Given the description of an element on the screen output the (x, y) to click on. 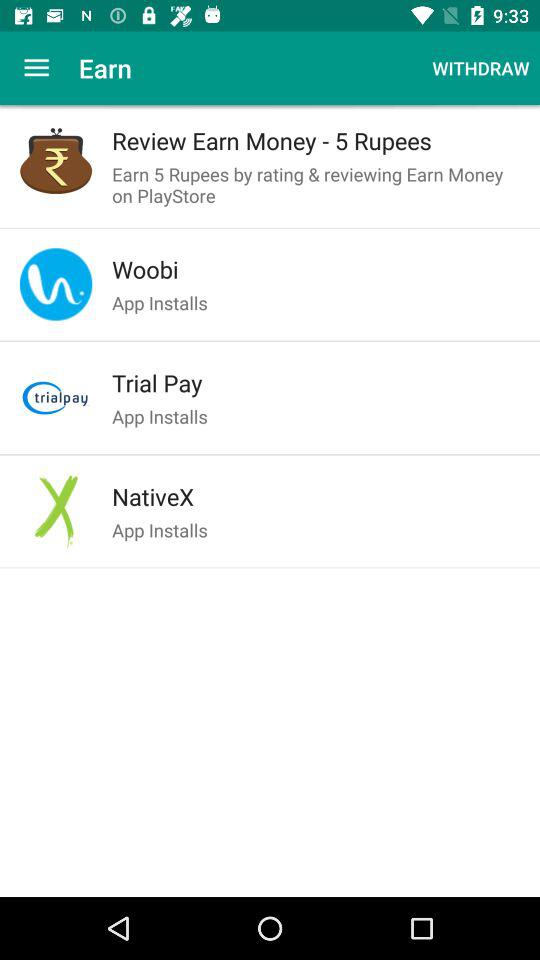
scroll until nativex (316, 496)
